Given the description of an element on the screen output the (x, y) to click on. 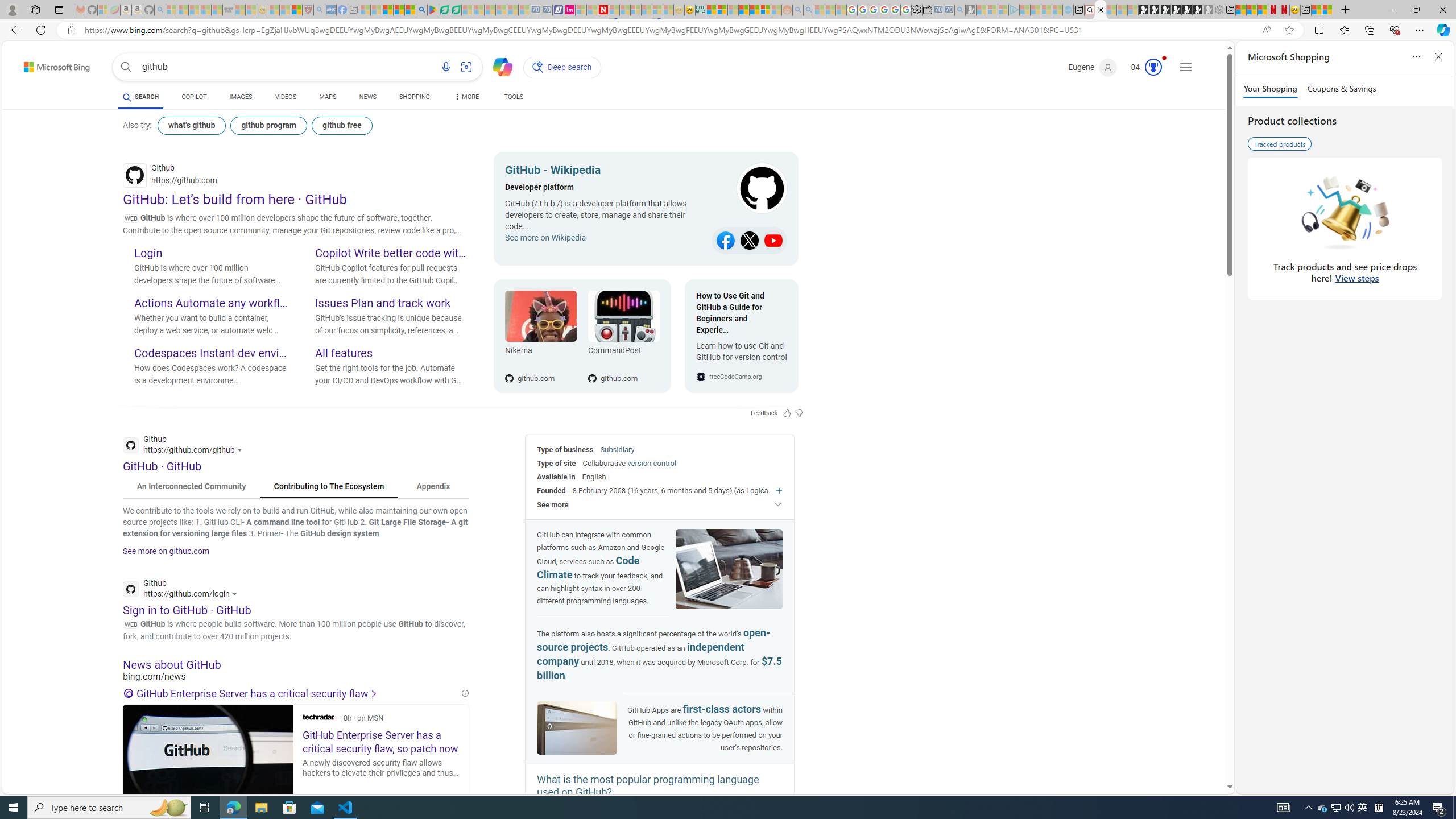
Jobs - lastminute.com Investor Portal (569, 9)
SHOPPING (414, 98)
AutomationID: rh_meter (1152, 66)
what's github (191, 125)
Terms of Use Agreement (443, 9)
Expert Portfolios (743, 9)
